Given the description of an element on the screen output the (x, y) to click on. 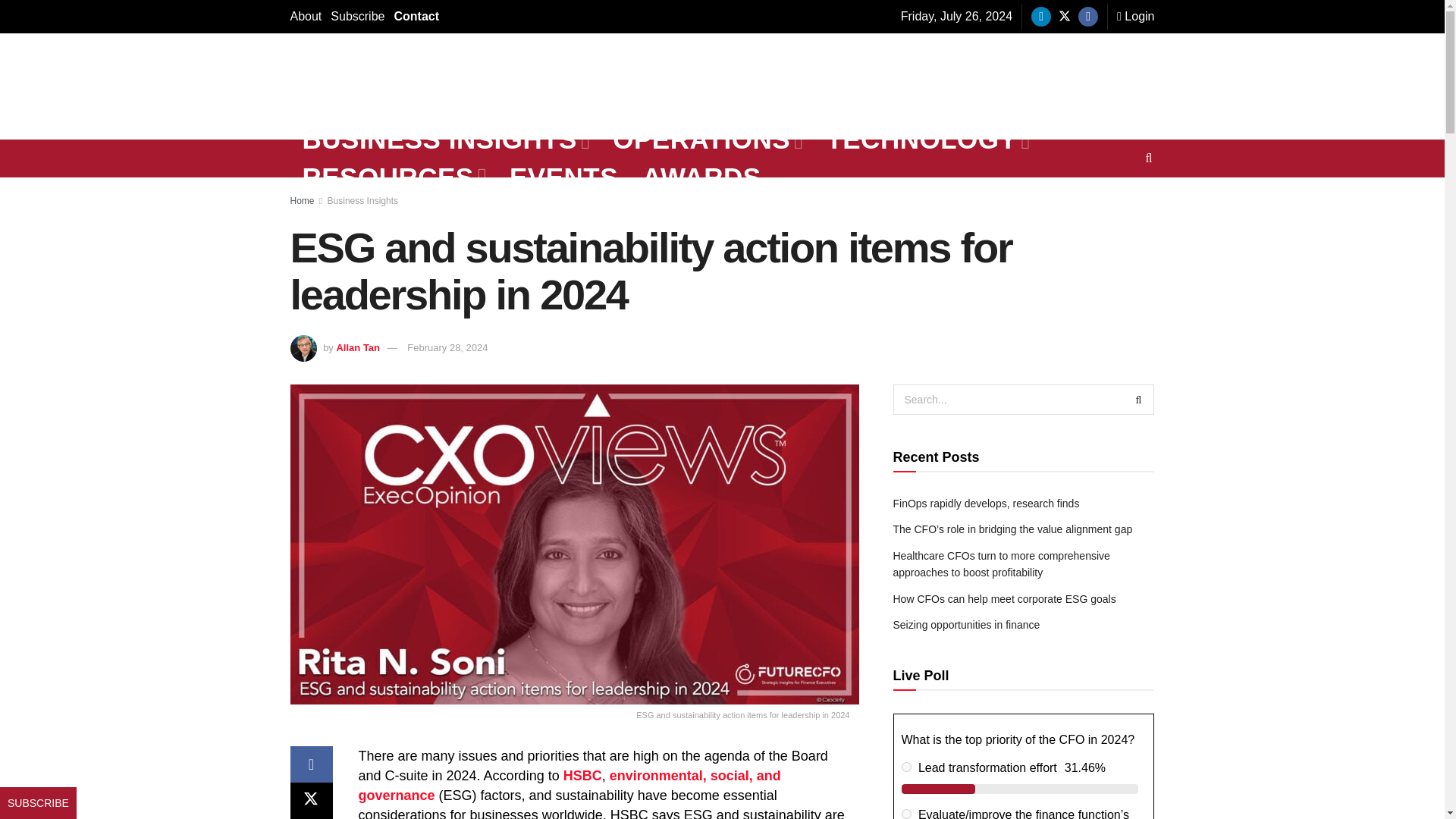
Login (1135, 16)
Contact (416, 16)
AWARDS (701, 177)
EVENTS (563, 177)
Subscribe (357, 16)
43 (906, 814)
42 (906, 767)
RESOURCES (393, 177)
BUSINESS INSIGHTS (444, 139)
TECHNOLOGY (927, 139)
About (305, 16)
OPERATIONS (706, 139)
